Given the description of an element on the screen output the (x, y) to click on. 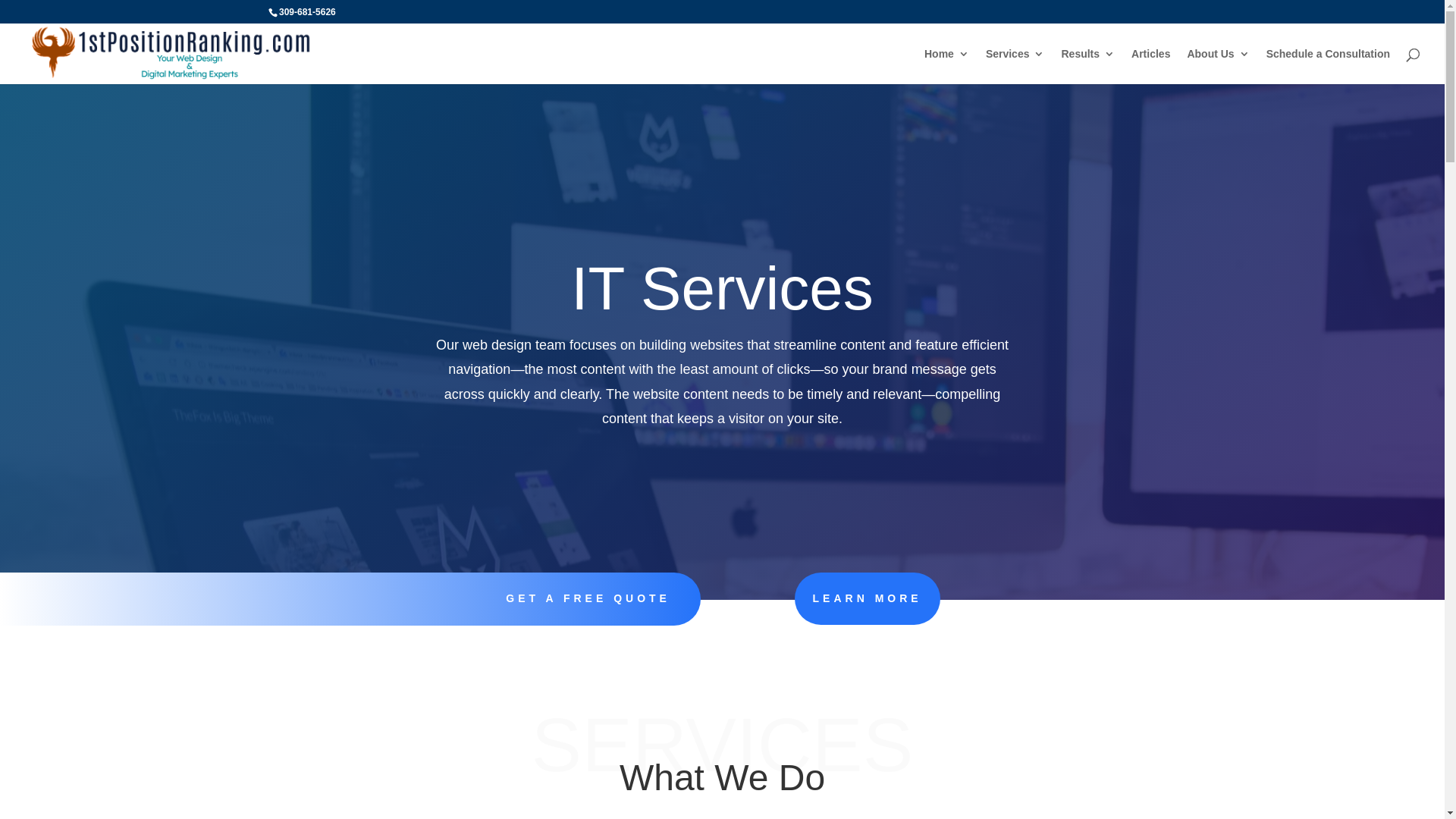
GET A FREE QUOTE Element type: text (587, 598)
Articles Element type: text (1150, 66)
Home Element type: text (946, 66)
Schedule a Consultation Element type: text (1328, 66)
Results Element type: text (1087, 66)
About Us Element type: text (1217, 66)
Services Element type: text (1014, 66)
LEARN MORE Element type: text (867, 598)
